Given the description of an element on the screen output the (x, y) to click on. 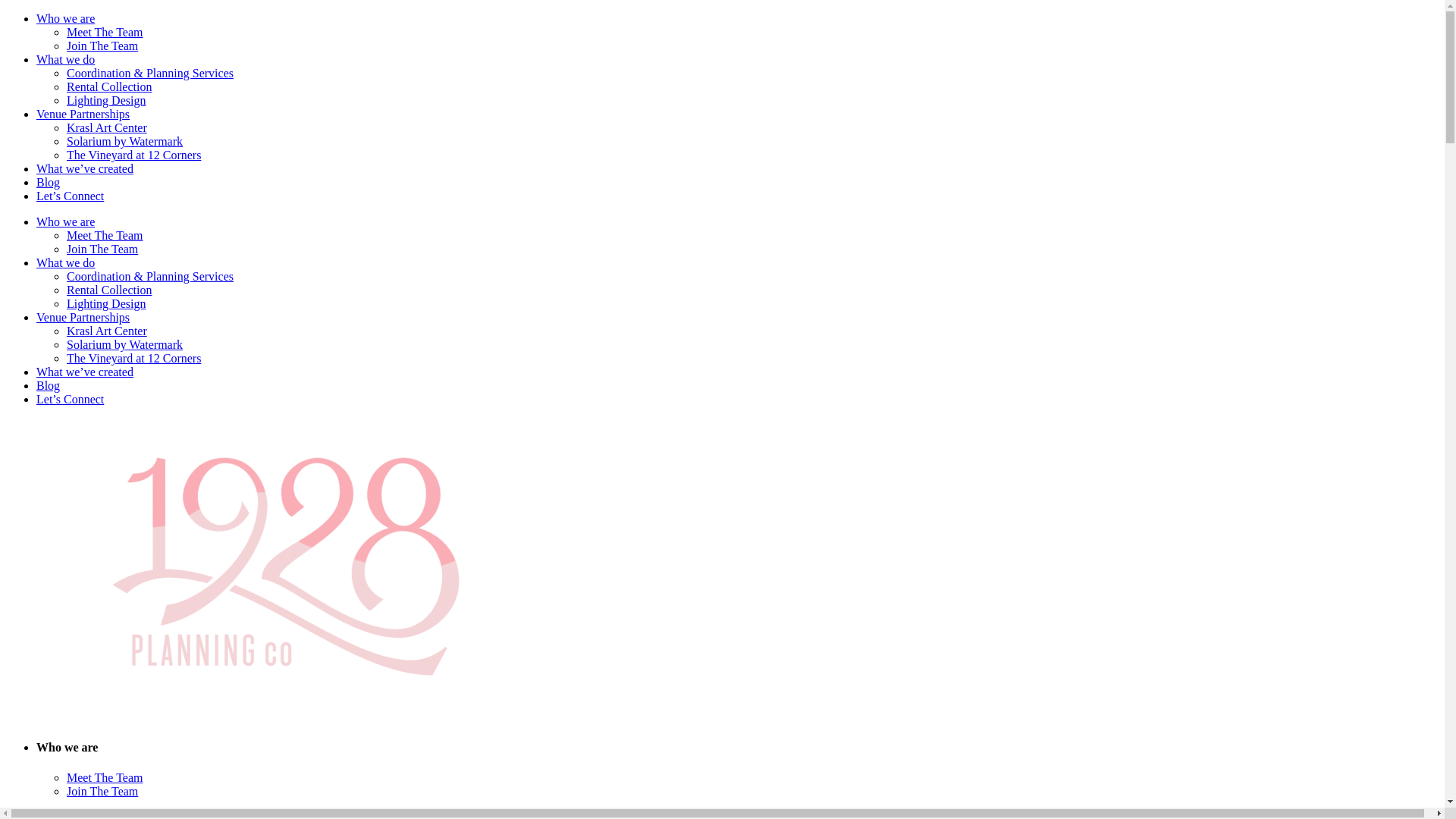
Solarium by Watermark Element type: text (124, 140)
Solarium by Watermark Element type: text (124, 344)
Join The Team Element type: text (102, 248)
Rental Collection Element type: text (108, 86)
The Vineyard at 12 Corners Element type: text (133, 154)
Meet The Team Element type: text (104, 777)
Venue Partnerships Element type: text (82, 316)
Coordination & Planning Services Element type: text (149, 275)
Krasl Art Center Element type: text (106, 330)
Venue Partnerships Element type: text (82, 113)
Krasl Art Center Element type: text (106, 127)
Who we are Element type: text (65, 18)
Coordination & Planning Services Element type: text (149, 72)
Join The Team Element type: text (102, 790)
Join The Team Element type: text (102, 45)
Rental Collection Element type: text (108, 289)
Who we are Element type: text (65, 221)
Meet The Team Element type: text (104, 235)
Blog Element type: text (47, 181)
Lighting Design Element type: text (105, 303)
What we do Element type: text (65, 262)
Meet The Team Element type: text (104, 31)
Lighting Design Element type: text (105, 100)
Blog Element type: text (47, 385)
The Vineyard at 12 Corners Element type: text (133, 357)
What we do Element type: text (65, 59)
